Given the description of an element on the screen output the (x, y) to click on. 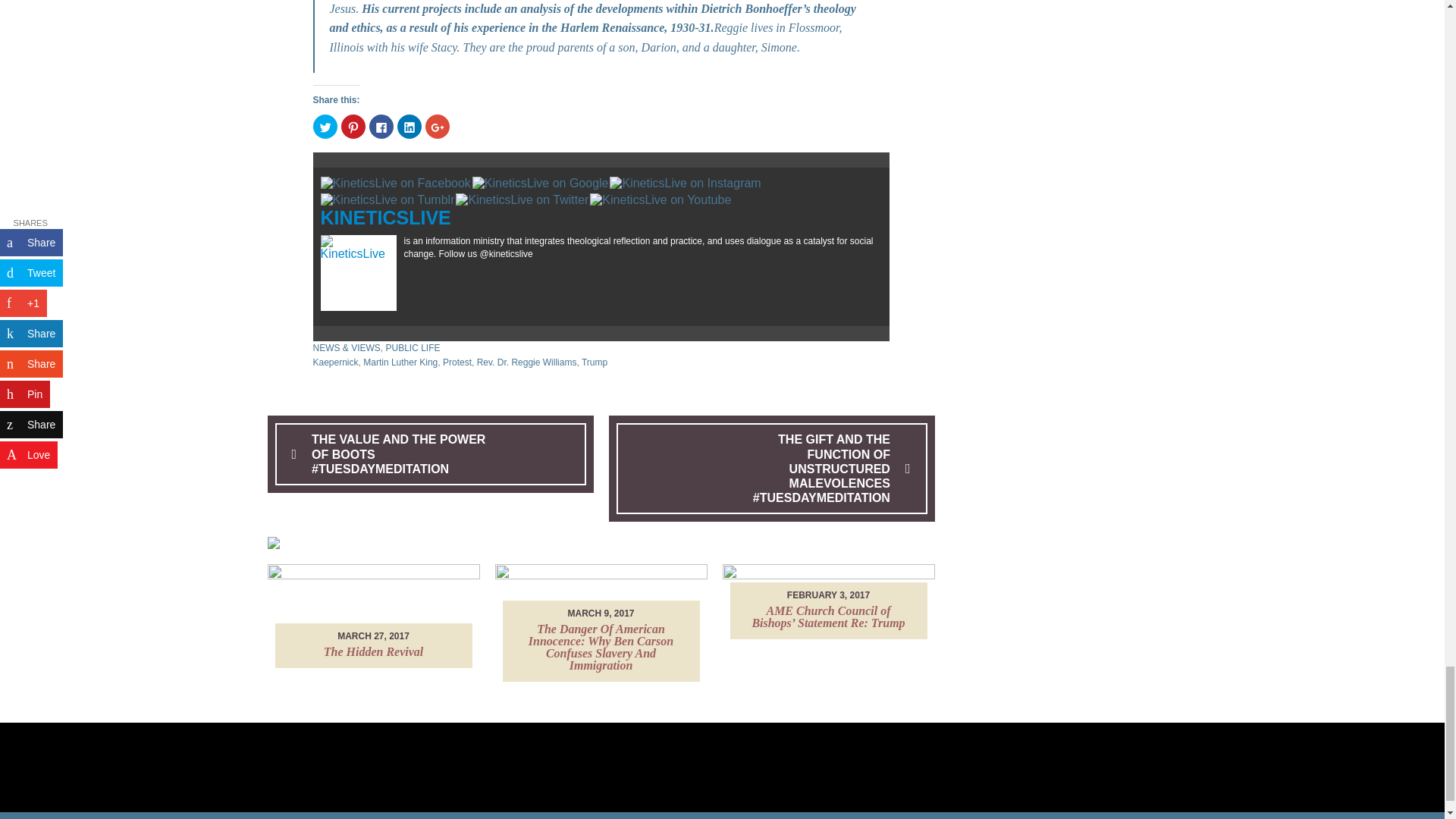
Click to share on LinkedIn (409, 126)
Click to share on Twitter (324, 126)
Click to share on Pinterest (352, 126)
Click to share on Facebook (380, 126)
KineticsLive (384, 217)
